Given the description of an element on the screen output the (x, y) to click on. 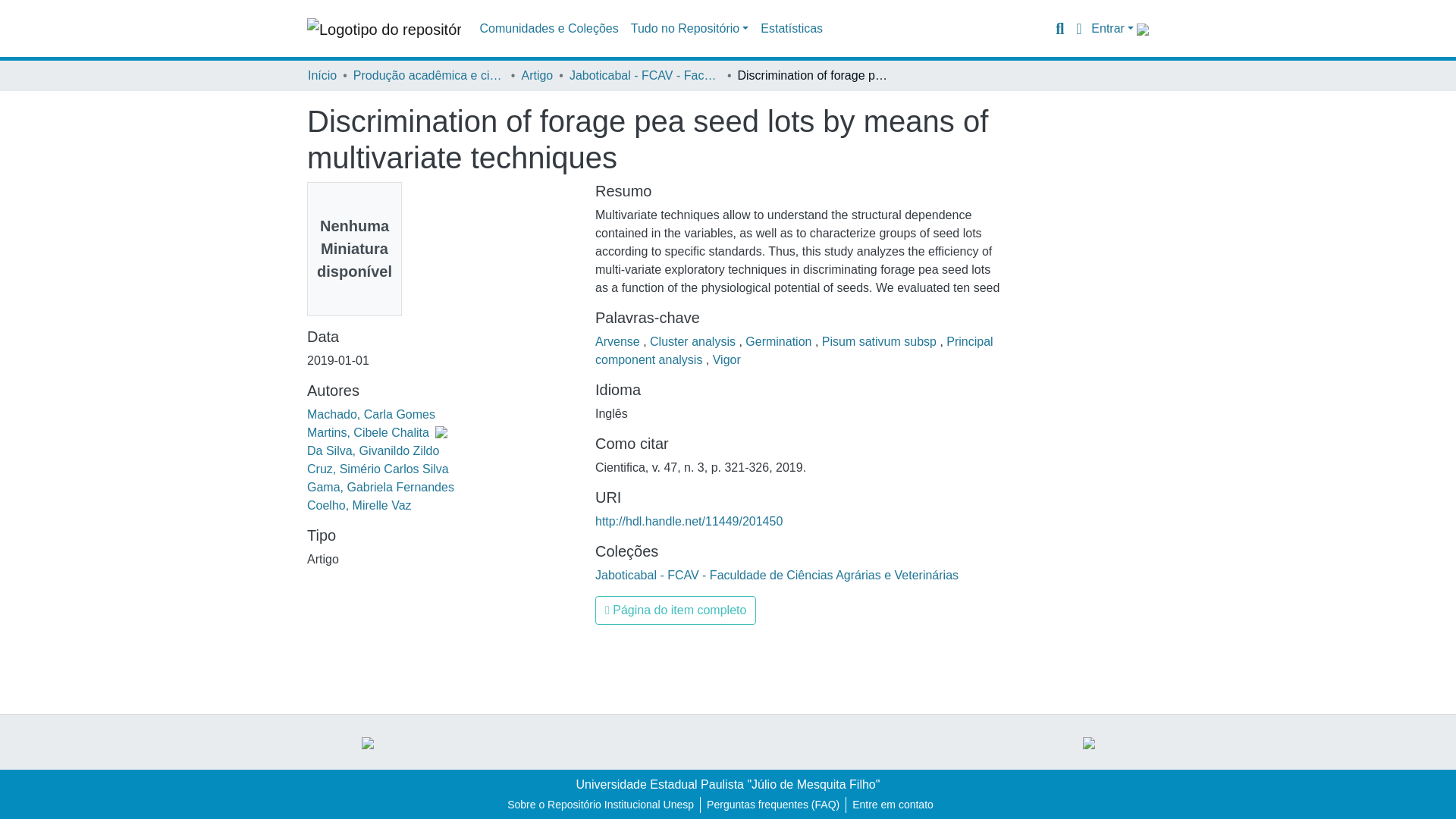
Germination (780, 341)
Arvense (619, 341)
Coelho, Mirelle Vaz (359, 504)
Pisum sativum subsp (881, 341)
Artigo (537, 75)
Principal component analysis (793, 350)
Vigor (727, 359)
Cluster analysis (693, 341)
Da Silva, Givanildo Zildo (373, 450)
Gama, Gabriela Fernandes (380, 486)
Martins, Cibele Chalita (376, 431)
Alternar idioma (1077, 28)
Machado, Carla Gomes (371, 413)
Pesquisar (1058, 28)
Entrar (1112, 28)
